Given the description of an element on the screen output the (x, y) to click on. 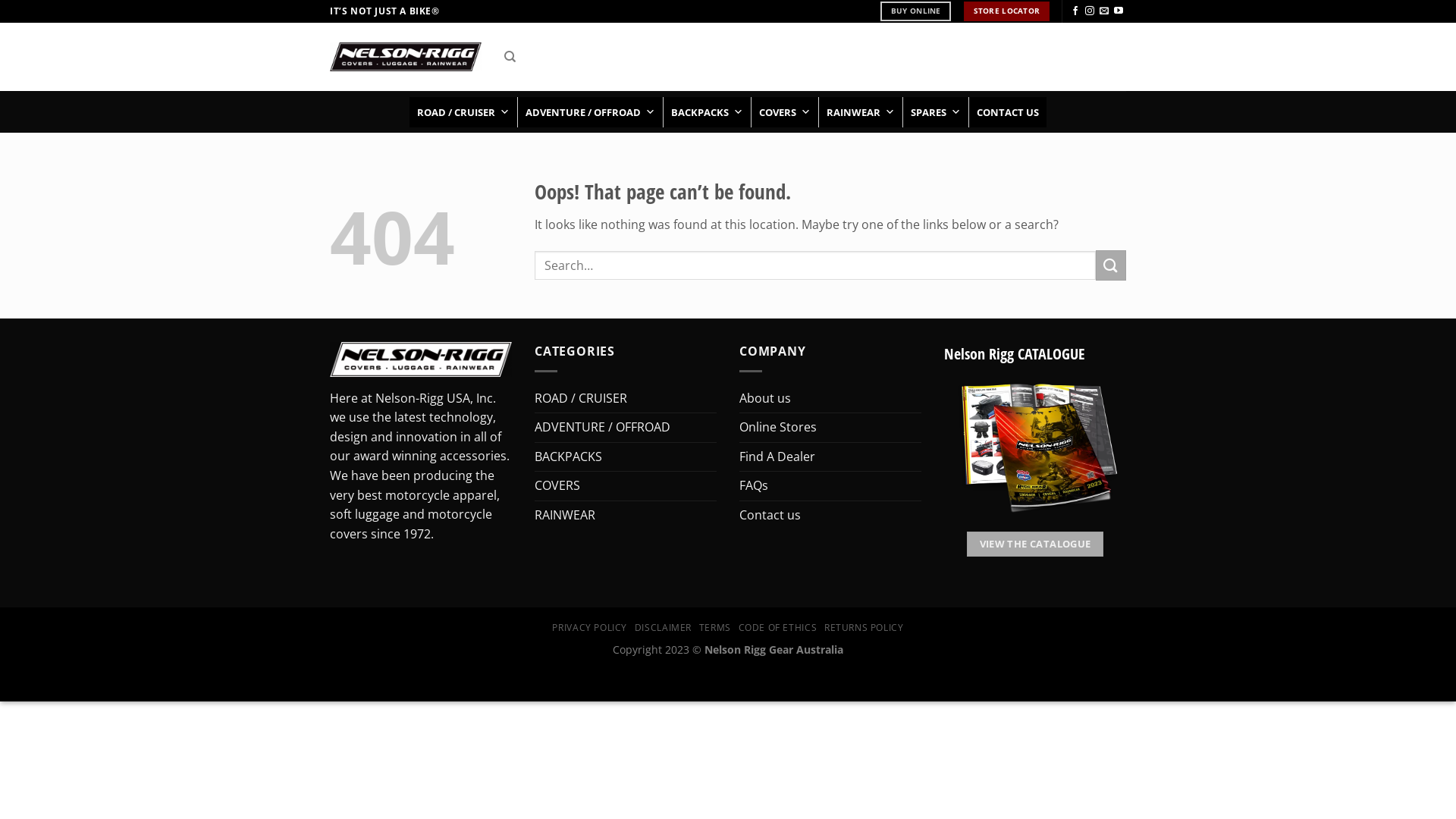
PRIVACY POLICY Element type: text (589, 627)
STORE LOCATOR Element type: text (1006, 10)
Follow on Instagram Element type: hover (1089, 11)
ADVENTURE / OFFROAD Element type: text (602, 427)
ROAD / CRUISER Element type: text (580, 398)
RAINWEAR Element type: text (860, 112)
Cracked Bulb Design Element type: text (760, 667)
Follow on Facebook Element type: hover (1074, 11)
ADVENTURE / OFFROAD Element type: text (589, 112)
Contact us Element type: text (769, 515)
VIEW THE CATALOGUE Element type: text (1034, 543)
BACKPACKS Element type: text (706, 112)
SPARES Element type: text (935, 112)
Online Stores Element type: text (777, 427)
About us Element type: text (764, 398)
TERMS Element type: text (715, 627)
Follow on YouTube Element type: hover (1118, 11)
CODE OF ETHICS Element type: text (777, 627)
COVERS Element type: text (784, 112)
BACKPACKS Element type: text (568, 456)
FAQs Element type: text (753, 485)
RETURNS POLICY Element type: text (863, 627)
Find A Dealer Element type: text (777, 456)
RAINWEAR Element type: text (564, 515)
CONTACT US Element type: text (1007, 112)
Send us an email Element type: hover (1103, 11)
DISCLAIMER Element type: text (662, 627)
ROAD / CRUISER Element type: text (463, 112)
BUY ONLINE Element type: text (915, 10)
COVERS Element type: text (557, 485)
